Given the description of an element on the screen output the (x, y) to click on. 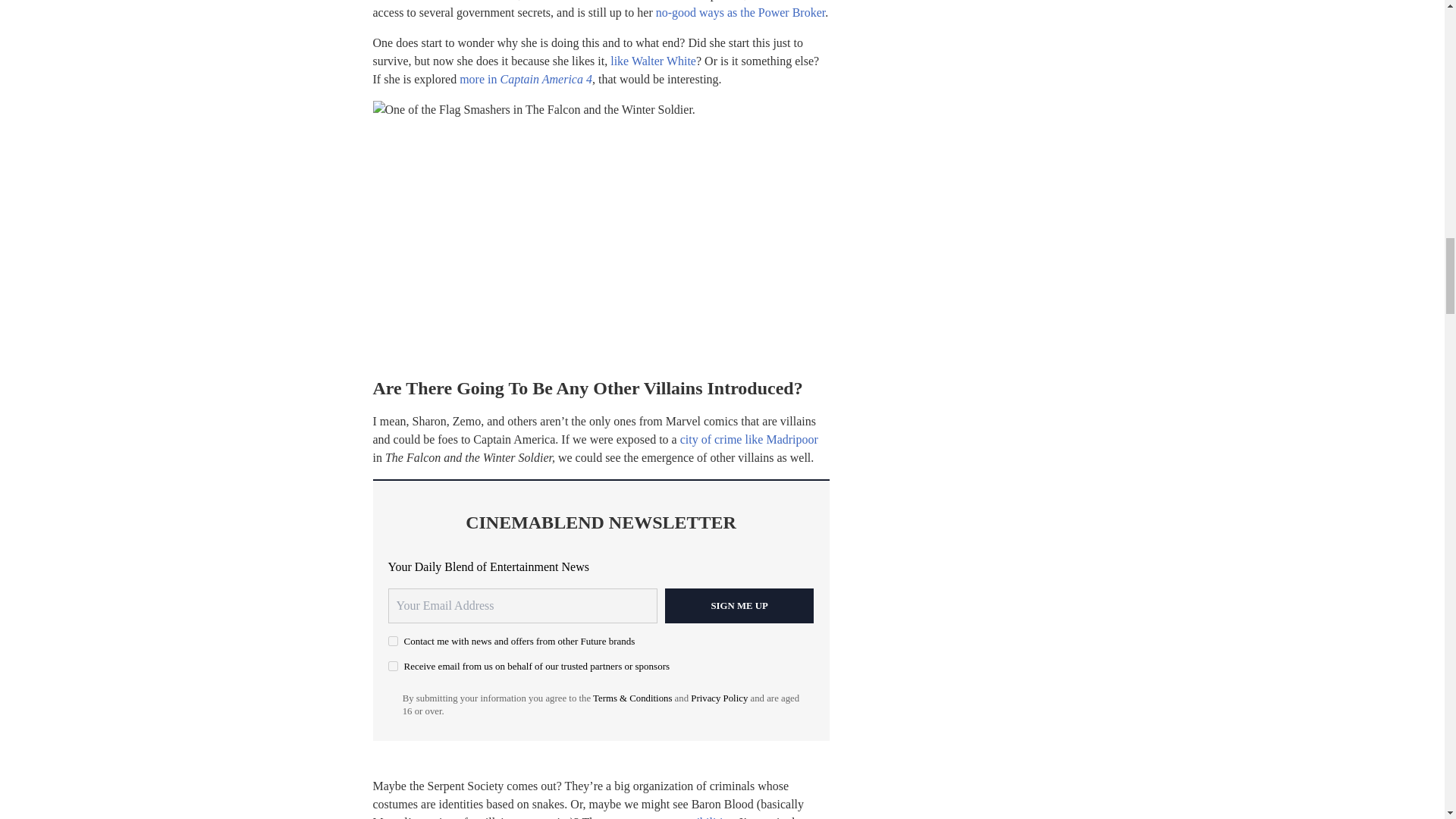
on (392, 665)
on (392, 641)
Sign me up (739, 605)
